Given the description of an element on the screen output the (x, y) to click on. 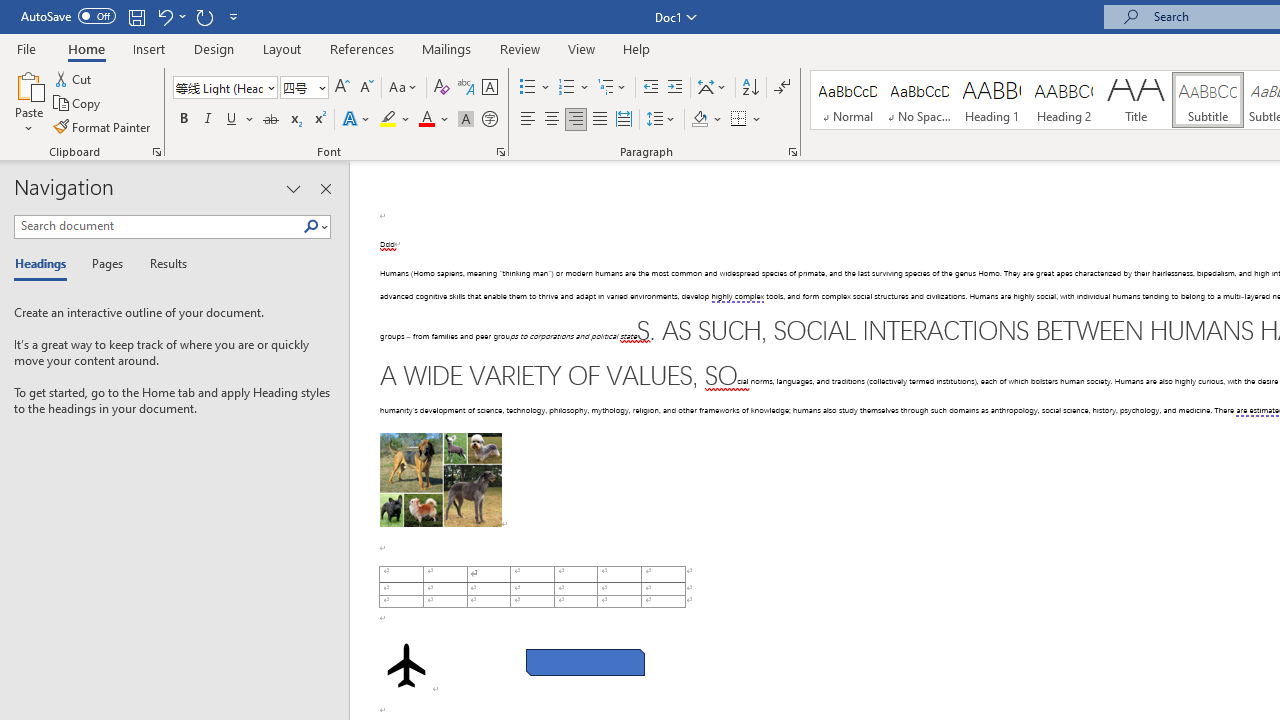
Underline (239, 119)
Search (315, 227)
Numbering (566, 87)
View (582, 48)
Text Highlight Color (395, 119)
Undo Paragraph Alignment (164, 15)
More Options (757, 119)
Asian Layout (712, 87)
Show/Hide Editing Marks (781, 87)
Text Highlight Color Yellow (388, 119)
Customize Quick Access Toolbar (234, 15)
Search (311, 227)
Font... (500, 151)
Design (214, 48)
Italic (207, 119)
